Given the description of an element on the screen output the (x, y) to click on. 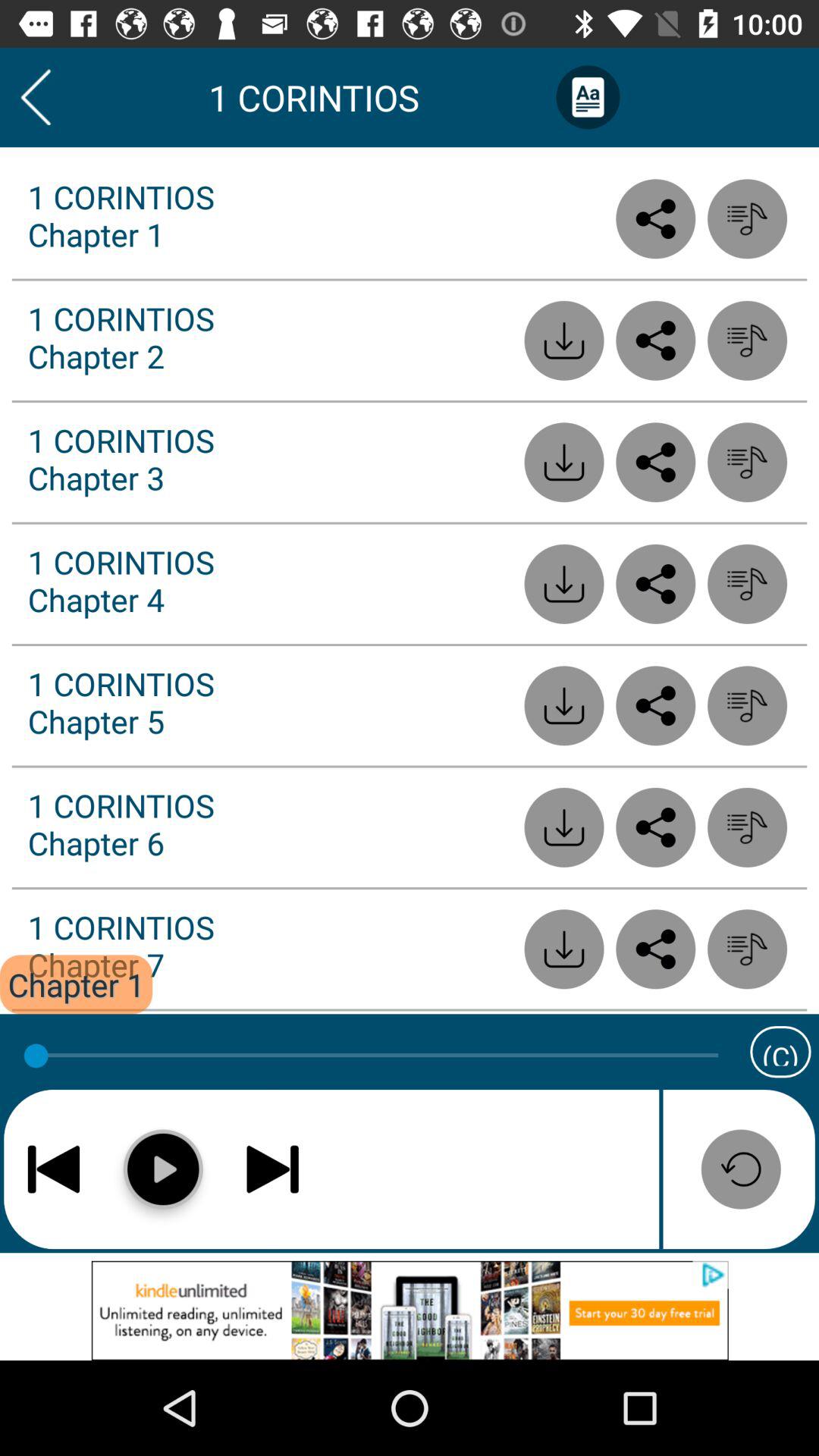
listen to audio (747, 827)
